Given the description of an element on the screen output the (x, y) to click on. 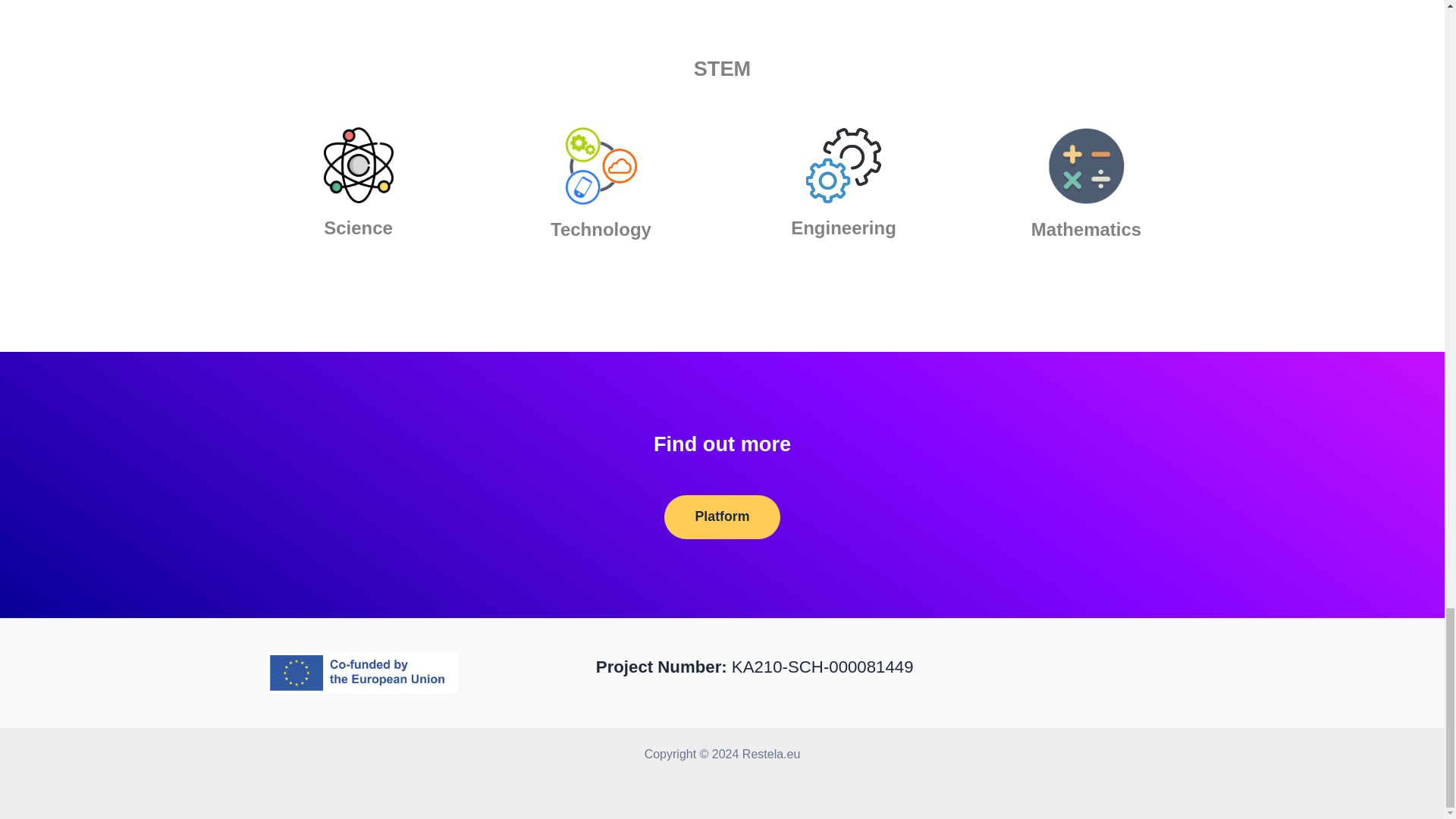
Platform (720, 516)
